Given the description of an element on the screen output the (x, y) to click on. 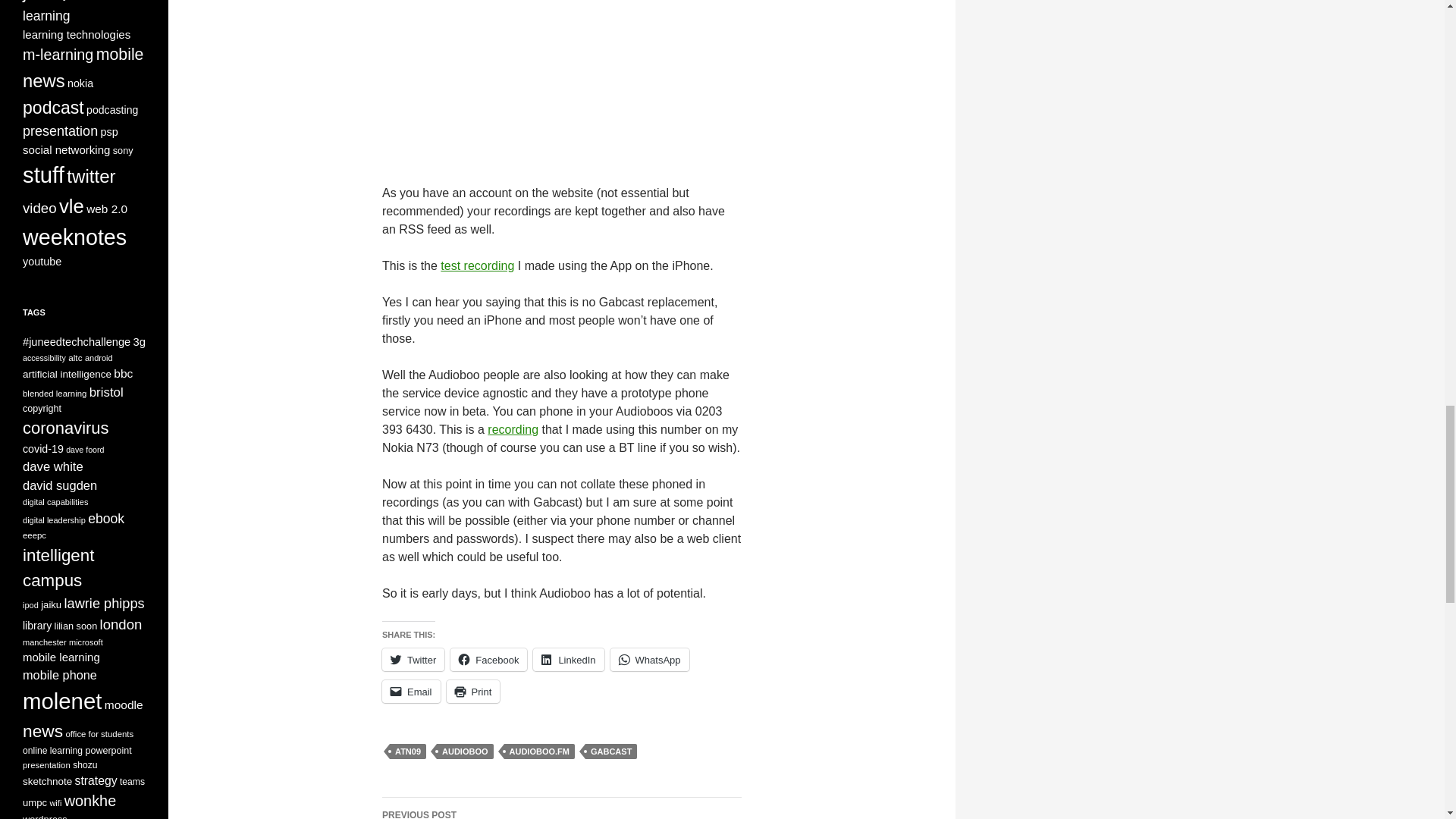
test recording (477, 265)
AUDIOBOO (464, 751)
ATN09 (408, 751)
GABCAST (611, 751)
AUDIOBOO.FM (539, 751)
Click to print (473, 691)
Facebook (488, 659)
Click to email a link to a friend (411, 691)
Email (411, 691)
Click to share on WhatsApp (649, 659)
Twitter (412, 659)
Click to share on LinkedIn (568, 659)
Print (473, 691)
Click to share on Facebook (488, 659)
recording (512, 429)
